Given the description of an element on the screen output the (x, y) to click on. 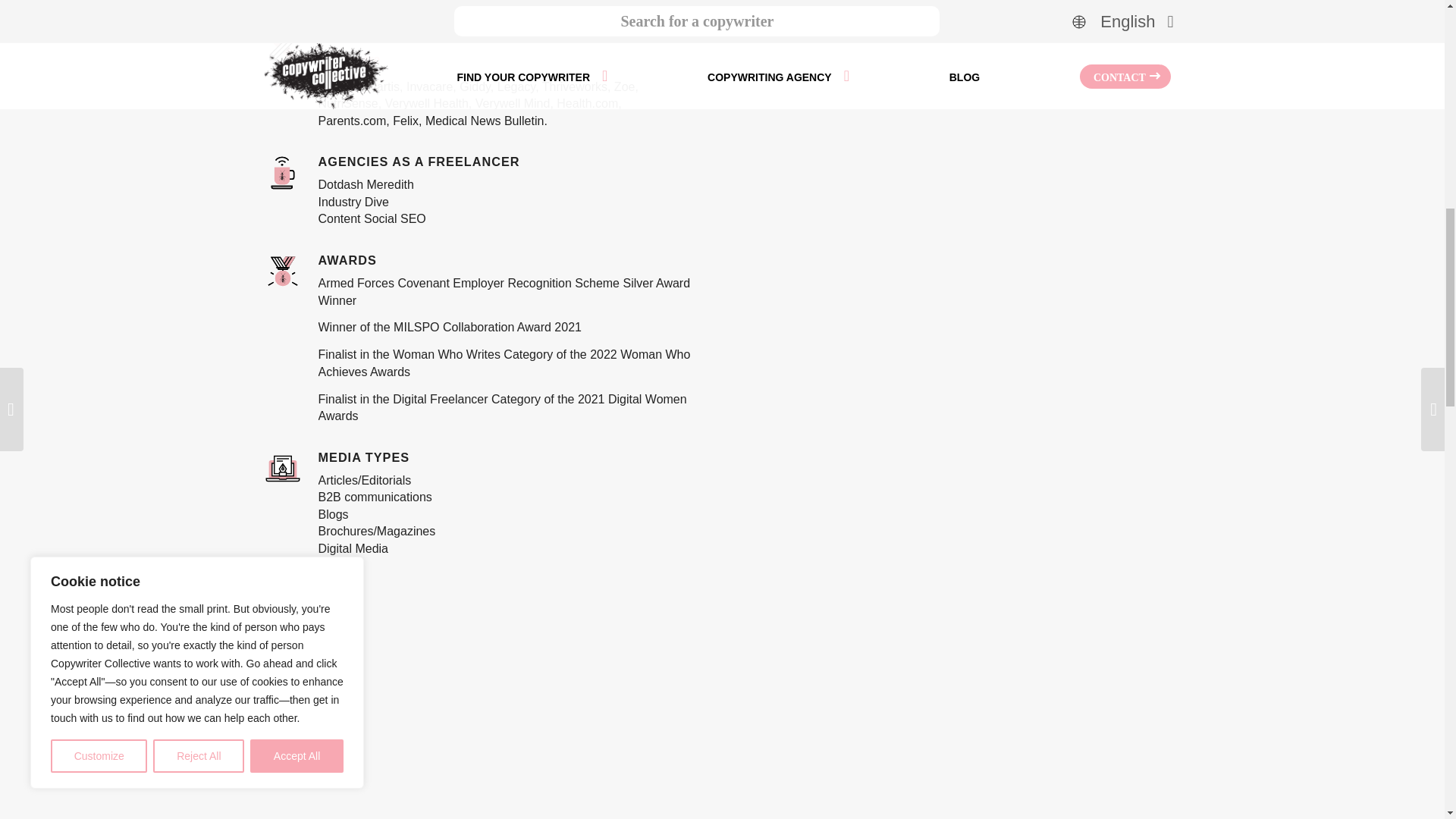
Healthcare (349, 59)
English (338, 0)
Healthcare (349, 59)
